Given the description of an element on the screen output the (x, y) to click on. 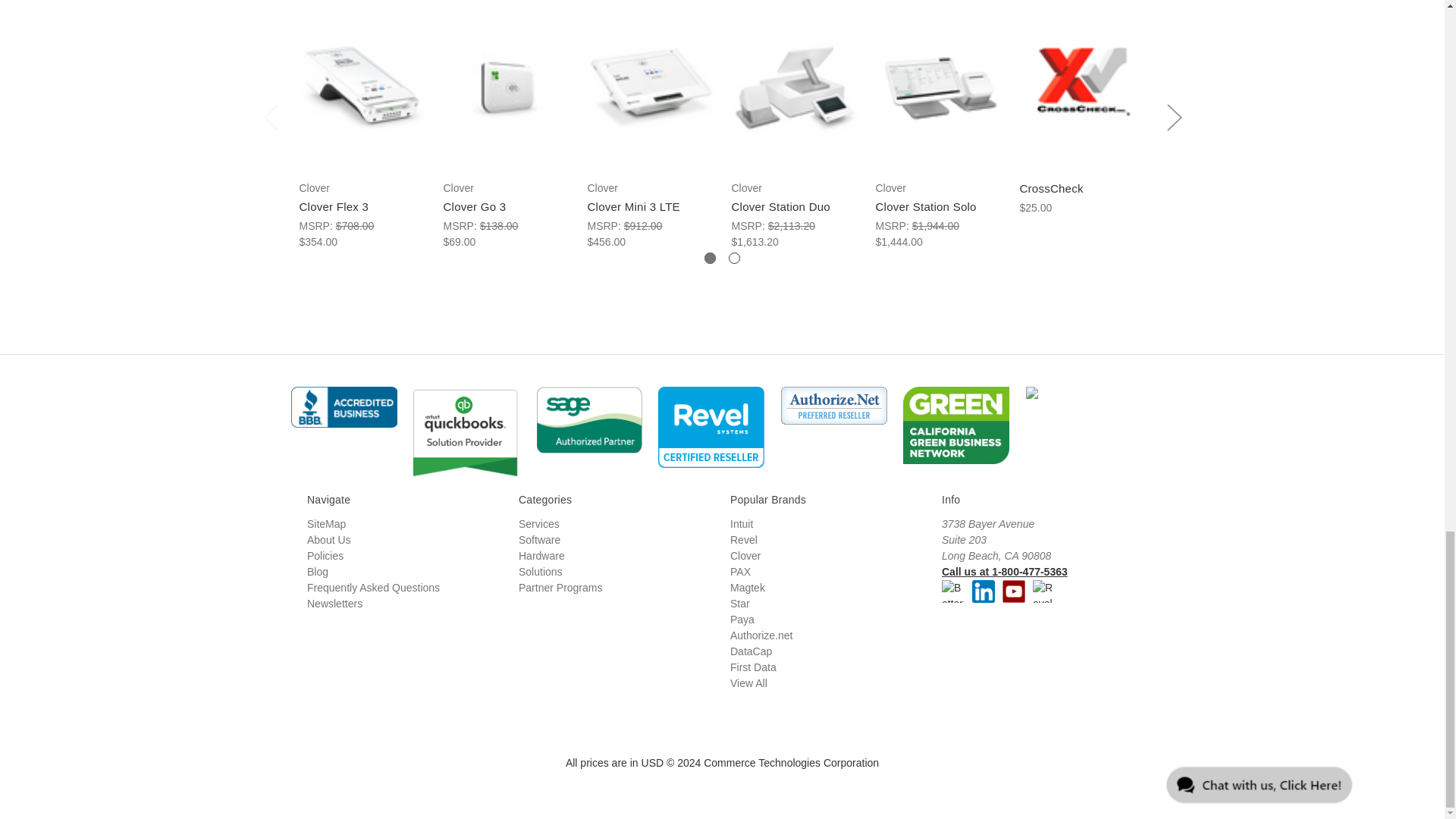
Clover Mini 3 LTE (651, 87)
CrossCheck (1083, 87)
Clover Station Solo (939, 87)
Clover Go 3 (507, 87)
Clover Flex 3 (363, 87)
Commerce Technologies BBB Profile (347, 412)
Clover Station Duo (795, 87)
